Given the description of an element on the screen output the (x, y) to click on. 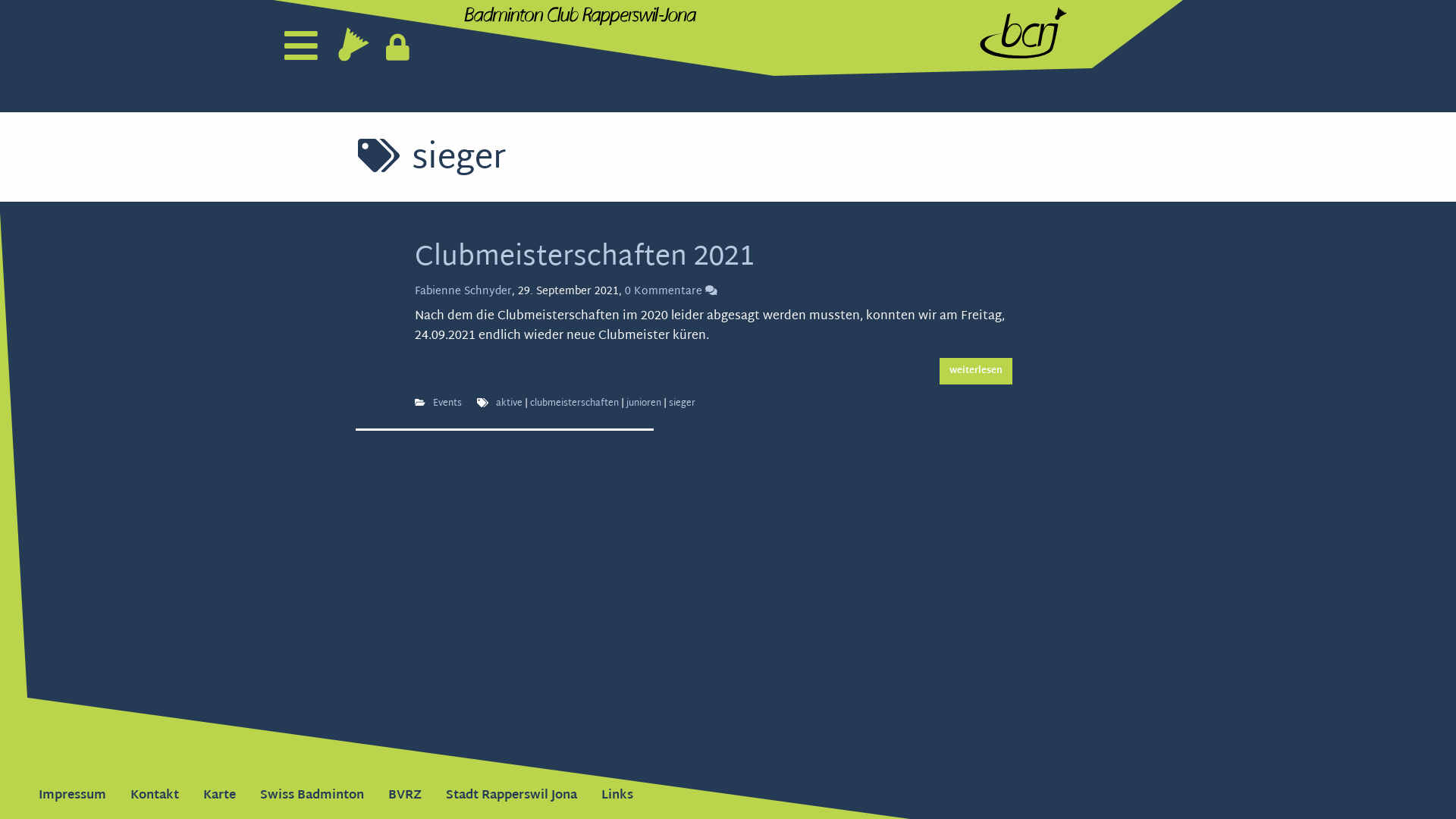
Fabienne Schnyder Element type: text (462, 291)
0 Kommentare Element type: text (670, 291)
Links Element type: text (617, 795)
Swiss Badminton Element type: text (311, 795)
Kontakt Element type: text (154, 795)
Karte Element type: text (219, 795)
Impressum Element type: text (72, 795)
aktive Element type: text (508, 403)
Stadt Rapperswil Jona Element type: text (511, 795)
BVRZ Element type: text (404, 795)
Clubmeisterschaften 2021 Element type: text (584, 257)
Suchen Element type: text (31, 15)
weiterlesen Element type: text (975, 370)
junioren Element type: text (643, 403)
clubmeisterschaften Element type: text (574, 403)
sieger Element type: text (681, 403)
Events Element type: text (447, 403)
